Given the description of an element on the screen output the (x, y) to click on. 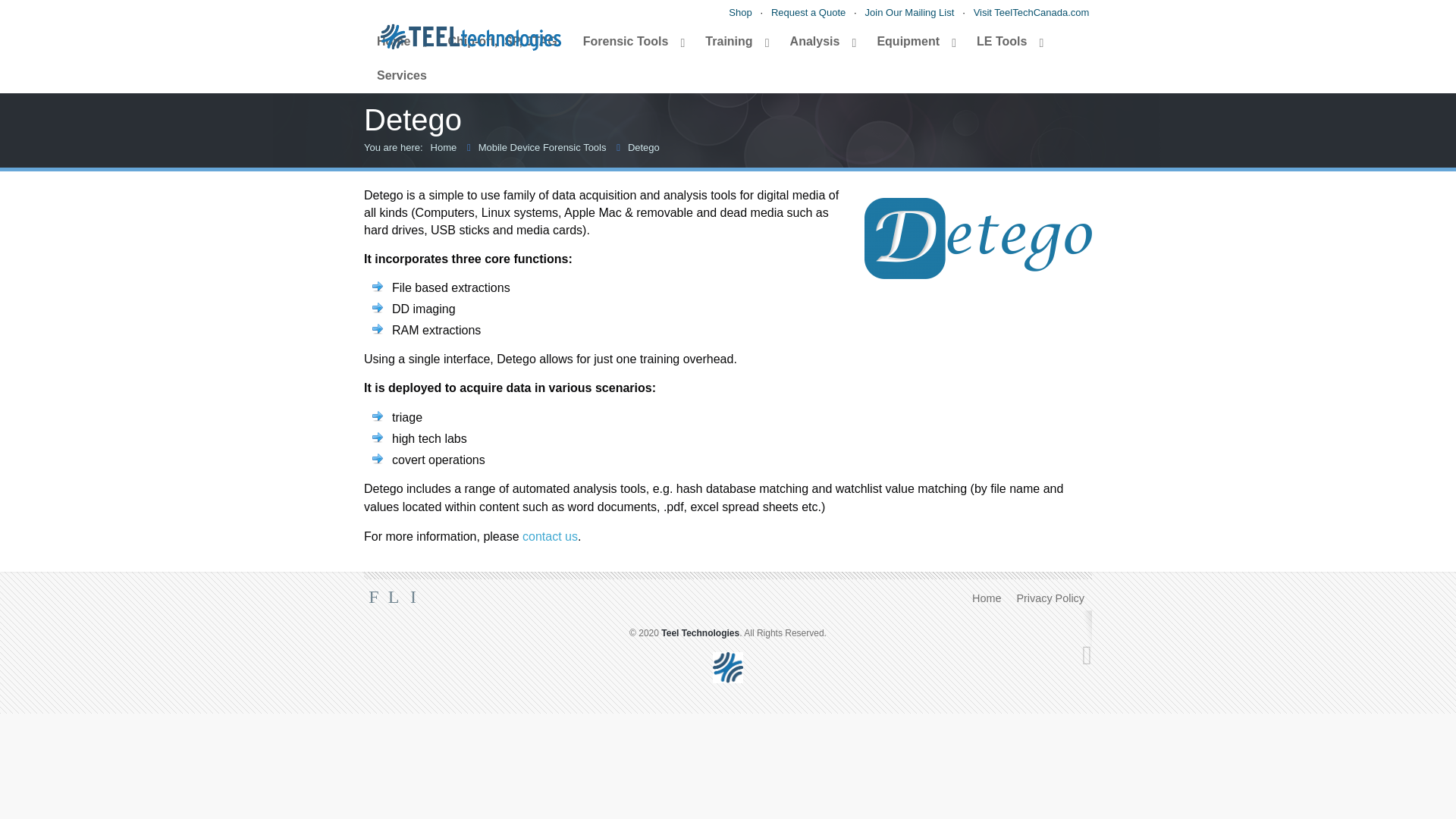
Twitter (749, 49)
Contact Us (550, 535)
Home (398, 41)
F (729, 49)
Search (1052, 48)
Facebook (373, 597)
Facebook (729, 49)
I (769, 49)
Request a Quote (808, 12)
LinkedIn (413, 597)
Shop (740, 12)
LinkedIn (769, 49)
Chip-off, ISP, JTAG (501, 41)
Search (1052, 48)
Visit TeelTechCanada.com (1031, 12)
